Given the description of an element on the screen output the (x, y) to click on. 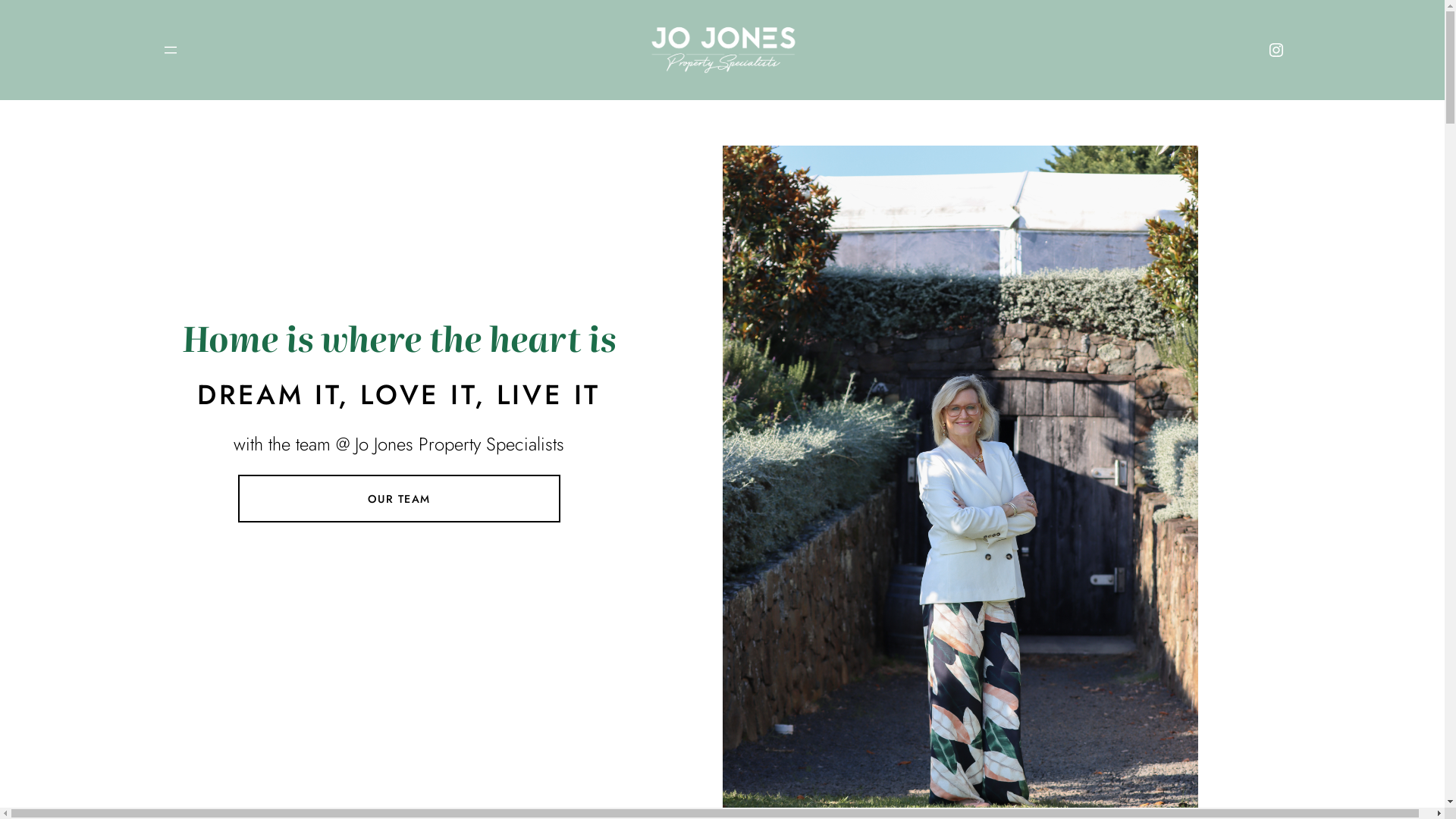
Instagram Element type: text (1276, 49)
OUR TEAM Element type: text (399, 498)
